Given the description of an element on the screen output the (x, y) to click on. 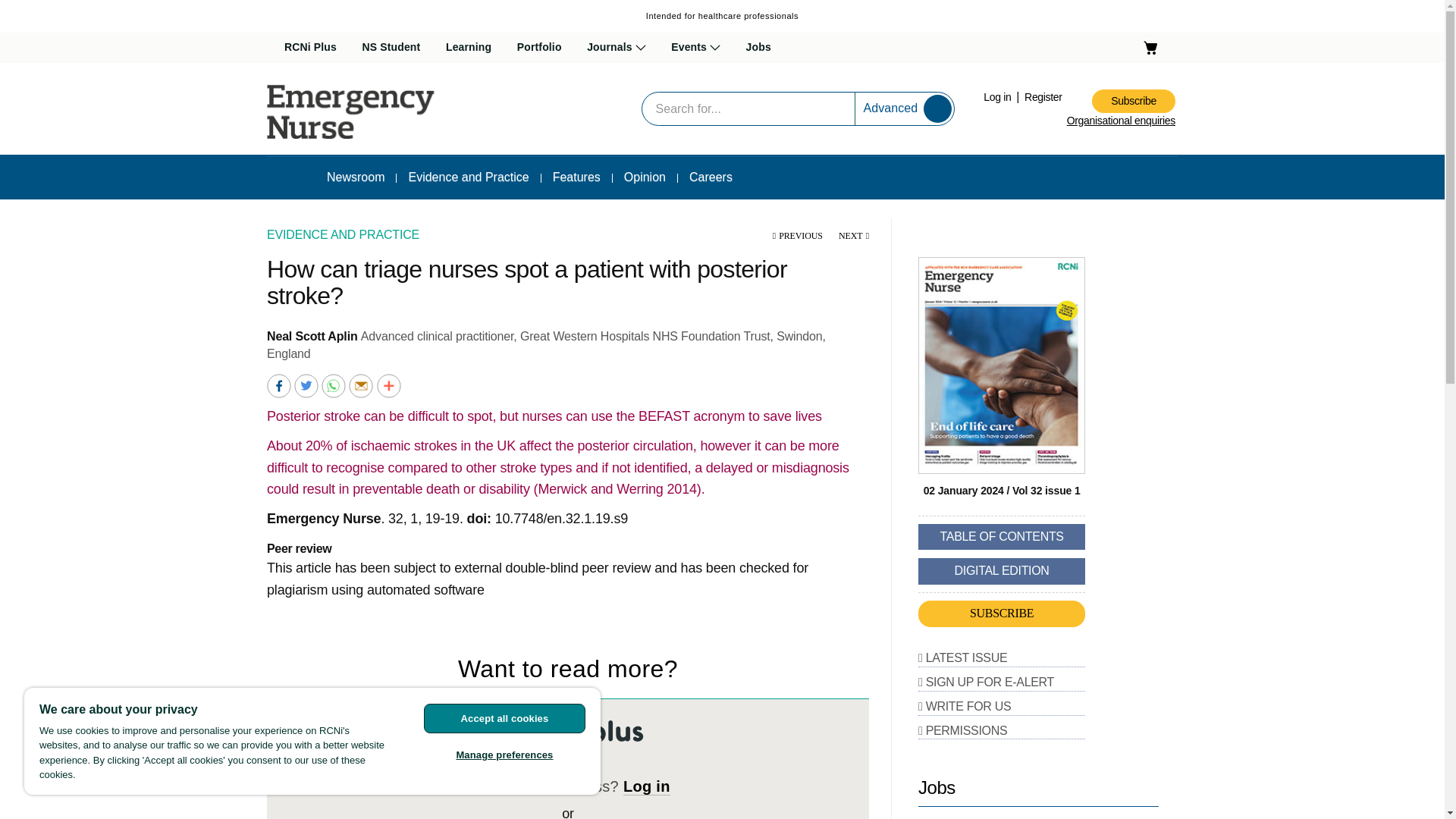
Twitter (306, 384)
Learning (468, 47)
Advanced (890, 107)
More (389, 384)
Register (1043, 96)
RCNi Plus (309, 47)
RCN Nursing Awards (734, 85)
Events (695, 47)
Log in (998, 96)
Organisational enquiries (1120, 120)
Evidence and Practice (468, 177)
Portfolio (539, 47)
Newsroom (355, 177)
Journals (616, 47)
Subscribe (1133, 101)
